Given the description of an element on the screen output the (x, y) to click on. 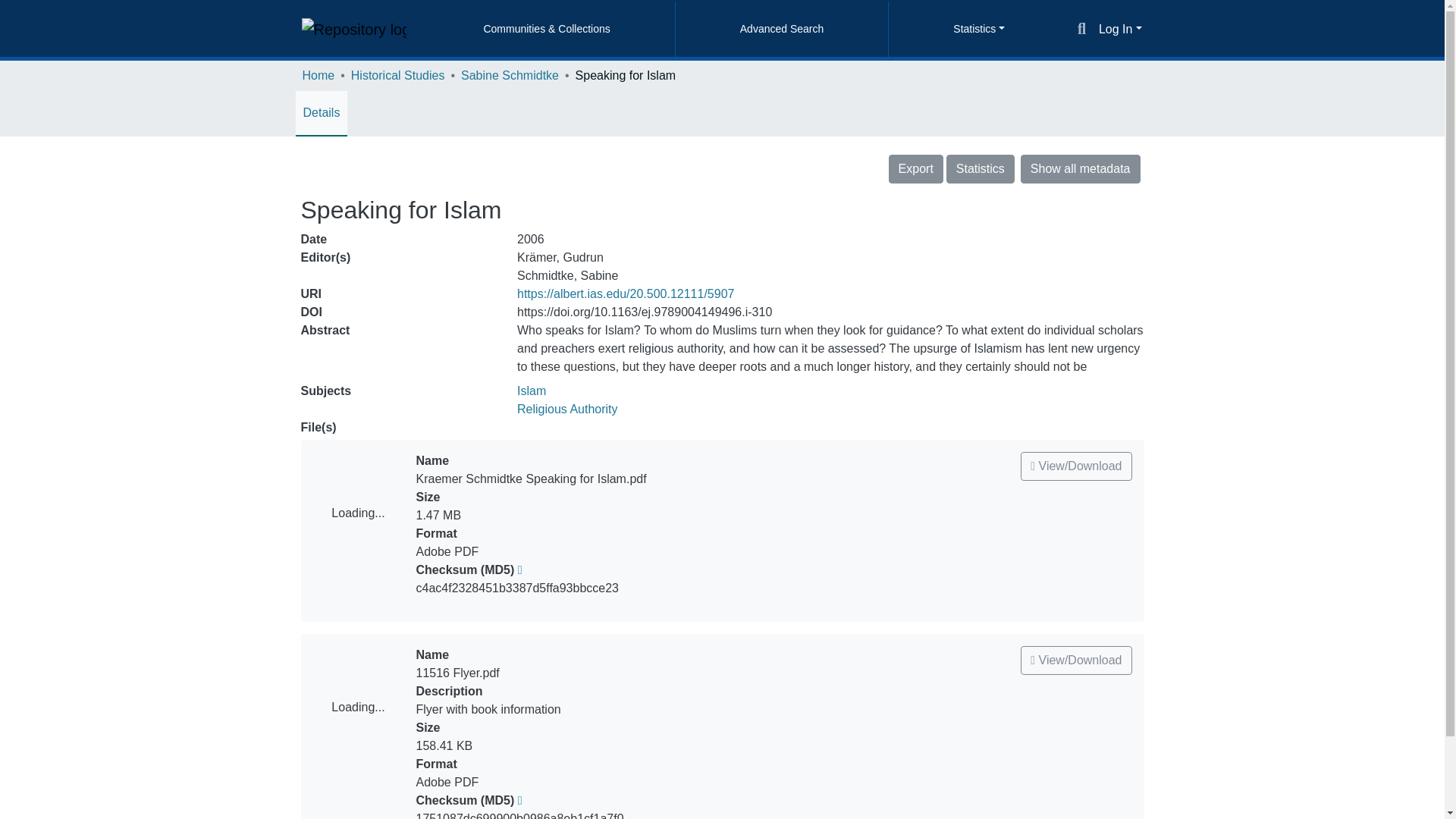
Log In (1119, 29)
Show all metadata (1080, 168)
Export (915, 168)
Statistics (980, 168)
Islam (531, 390)
Details (321, 112)
Advanced Search (781, 29)
Religious Authority (566, 408)
Home (317, 75)
Statistics (978, 29)
